Given the description of an element on the screen output the (x, y) to click on. 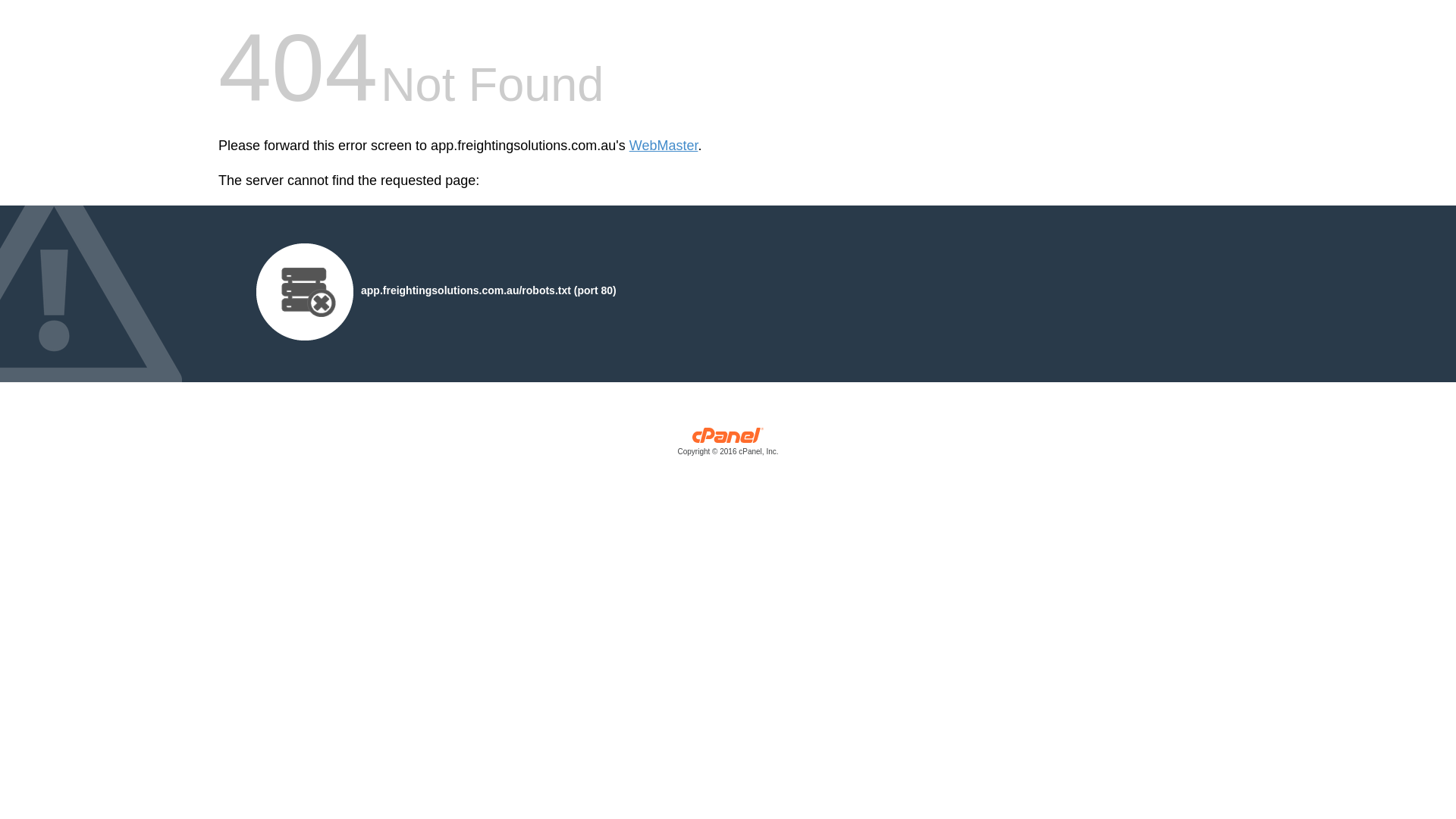
WebMaster Element type: text (663, 145)
